Given the description of an element on the screen output the (x, y) to click on. 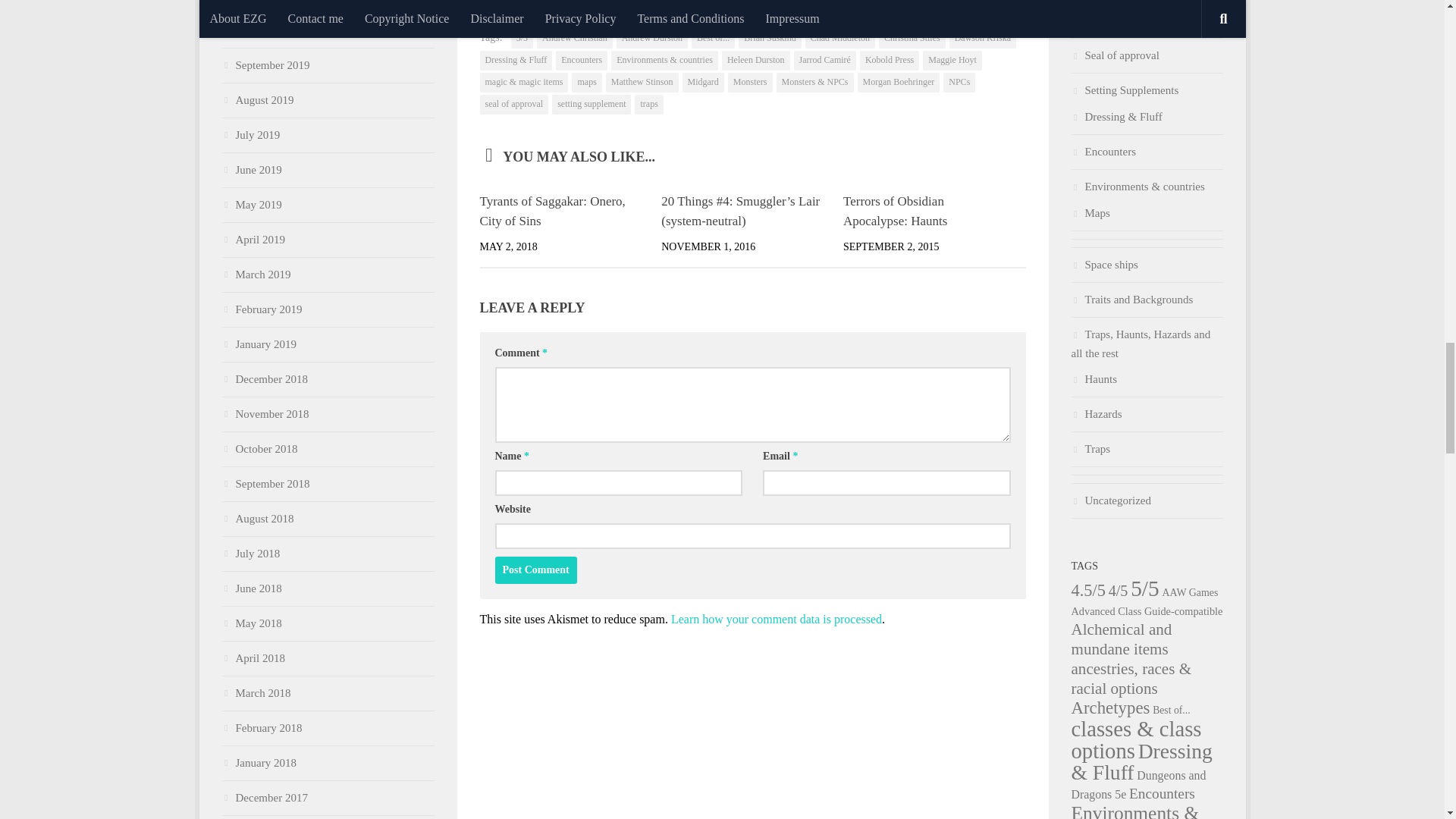
Permalink to Terrors of Obsidian Apocalypse: Haunts (895, 211)
Permalink to Tyrants of Saggakar: Onero, City of Sins (551, 211)
Post Comment (535, 569)
